Given the description of an element on the screen output the (x, y) to click on. 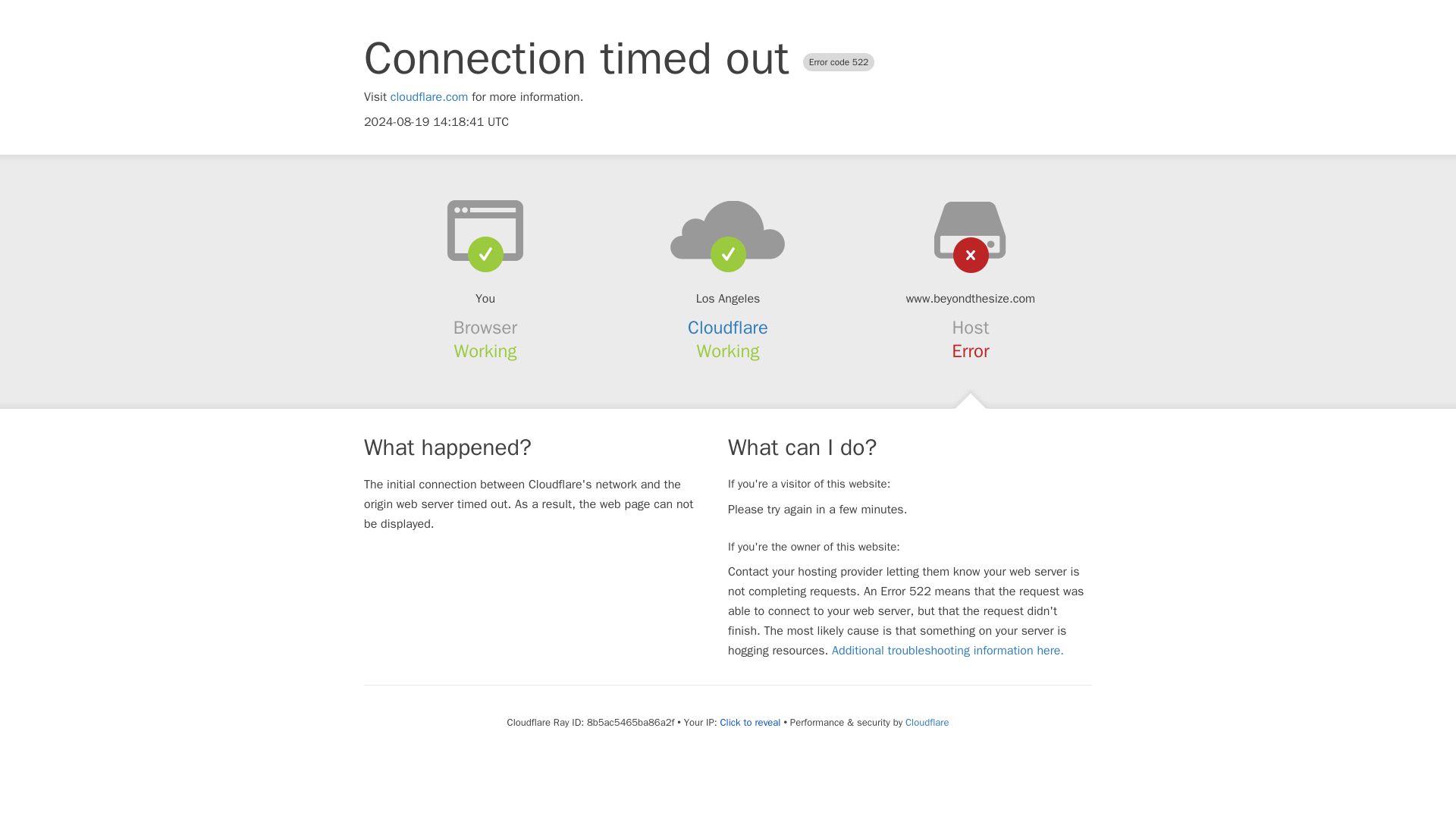
Additional troubleshooting information here. (947, 650)
Click to reveal (750, 722)
Cloudflare (927, 721)
cloudflare.com (429, 96)
Cloudflare (727, 327)
